Given the description of an element on the screen output the (x, y) to click on. 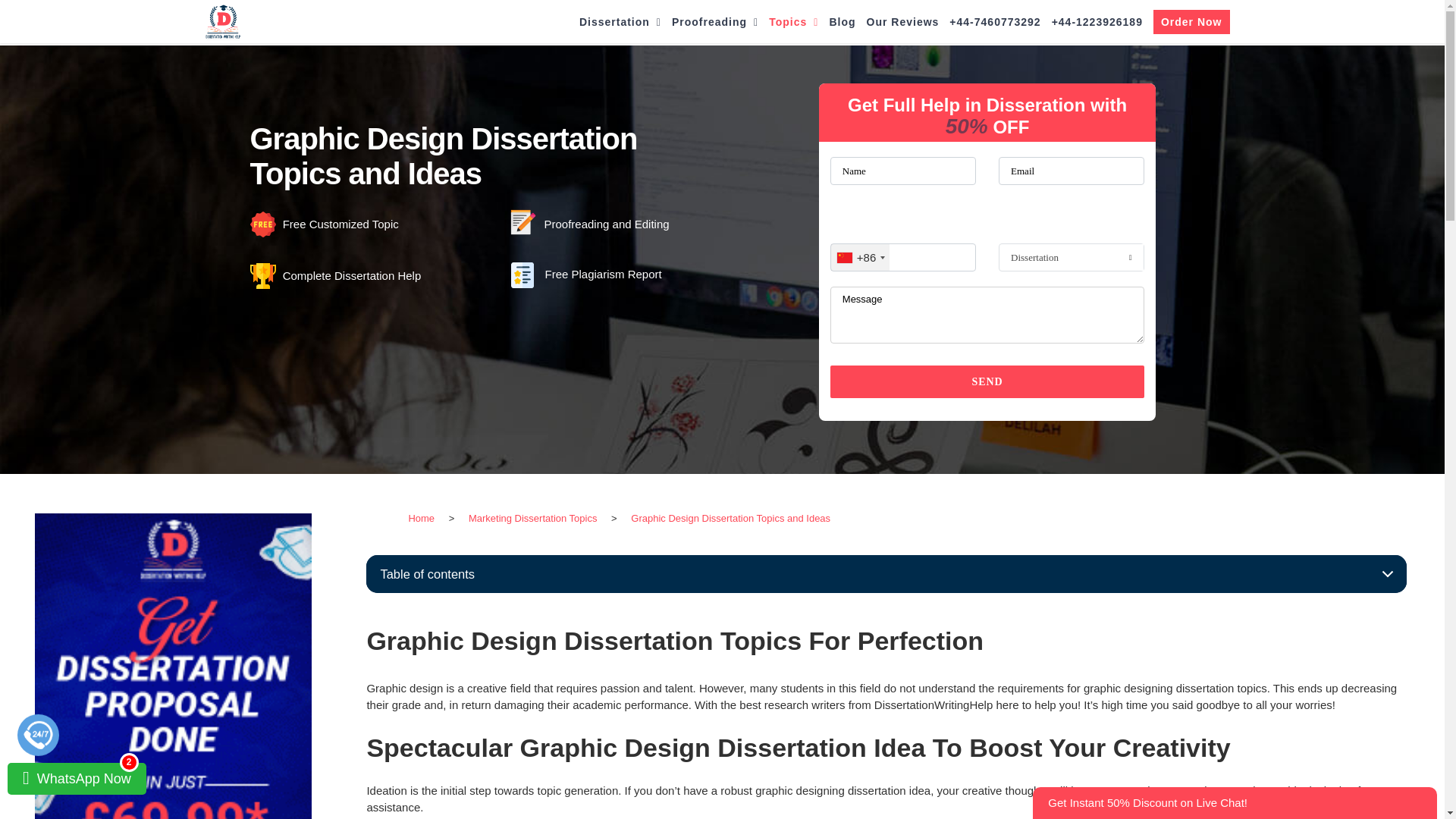
Send (986, 381)
Graphic Design Dissertation Topics and Ideas (730, 518)
Home (421, 518)
Dissertation (620, 21)
China (860, 257)
Marketing Dissertation Topics (533, 518)
